Given the description of an element on the screen output the (x, y) to click on. 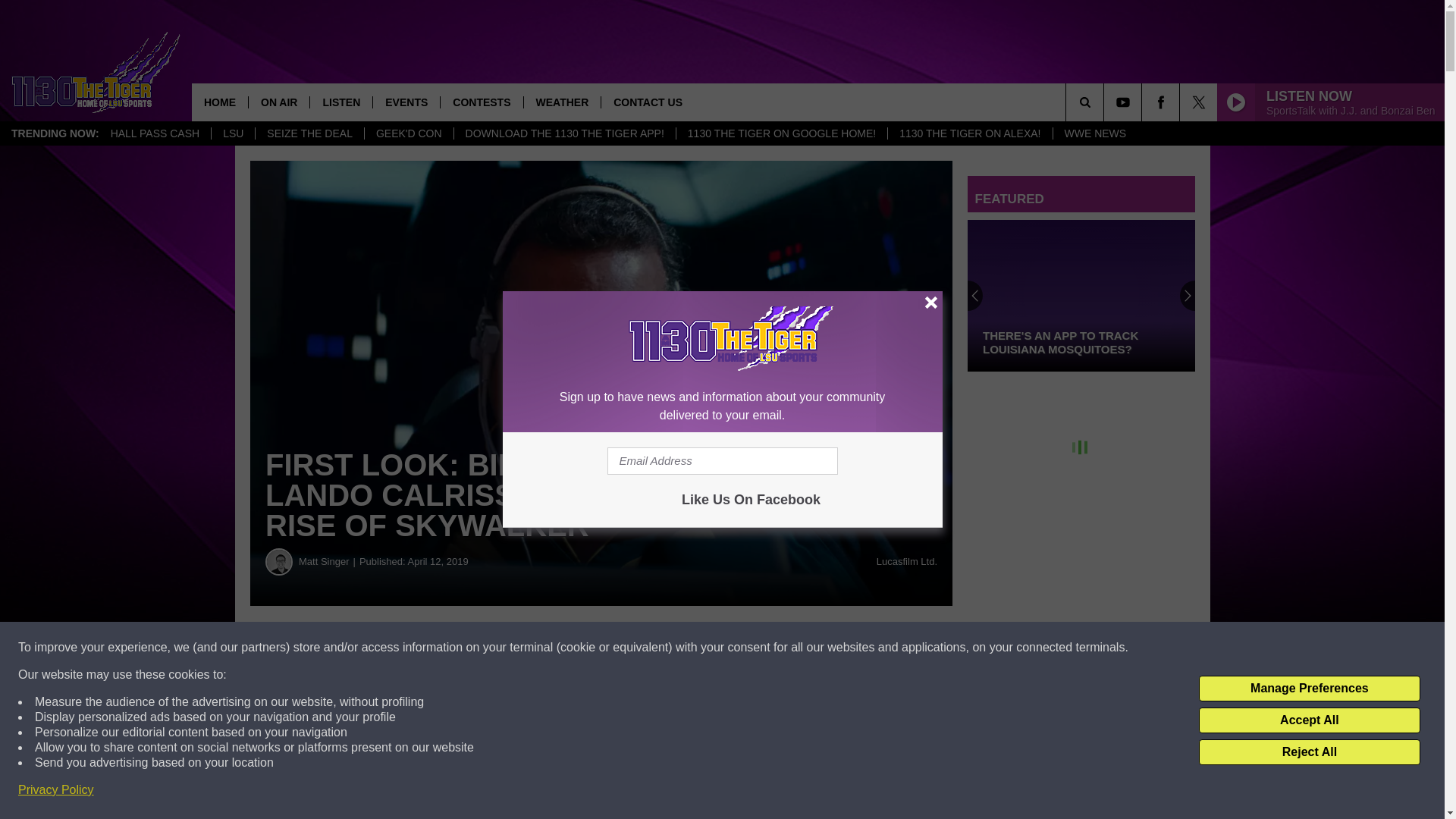
ON AIR (277, 102)
Privacy Policy (55, 789)
LISTEN (340, 102)
Share on Twitter (741, 647)
CONTACT US (646, 102)
1130 THE TIGER ON GOOGLE HOME! (780, 133)
WWE NEWS (1095, 133)
DOWNLOAD THE 1130 THE TIGER APP! (563, 133)
GEEK'D CON (408, 133)
Share on Facebook (460, 647)
Email Address (722, 461)
Reject All (1309, 751)
SEARCH (1106, 102)
CONTESTS (480, 102)
SEARCH (1106, 102)
